Given the description of an element on the screen output the (x, y) to click on. 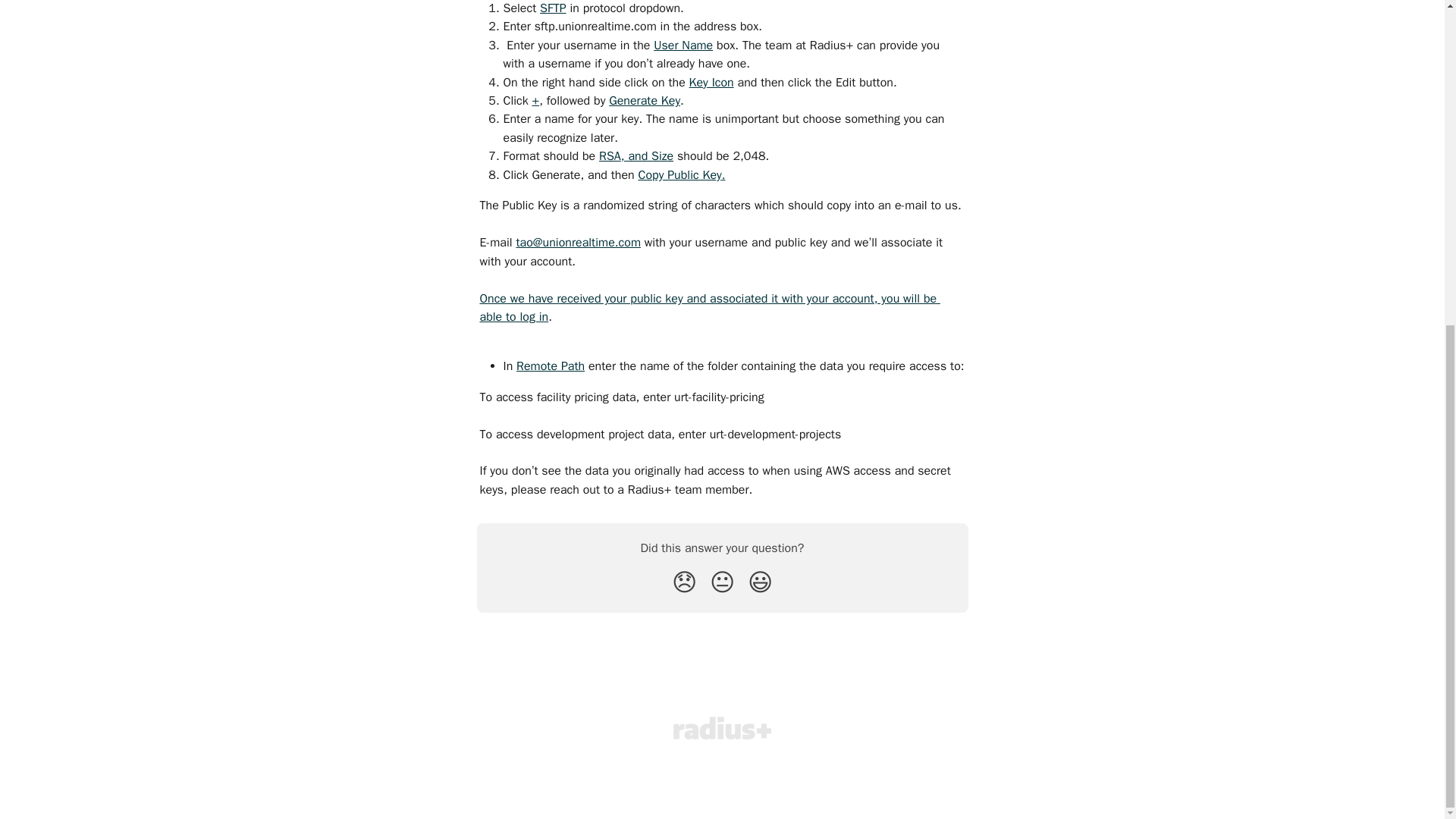
, and Size (646, 157)
RSA (609, 157)
Remote Path (550, 367)
Generate Key (643, 102)
SFTP (553, 9)
User Name (683, 46)
Copy Public Key (678, 176)
Key Icon (710, 83)
